Given the description of an element on the screen output the (x, y) to click on. 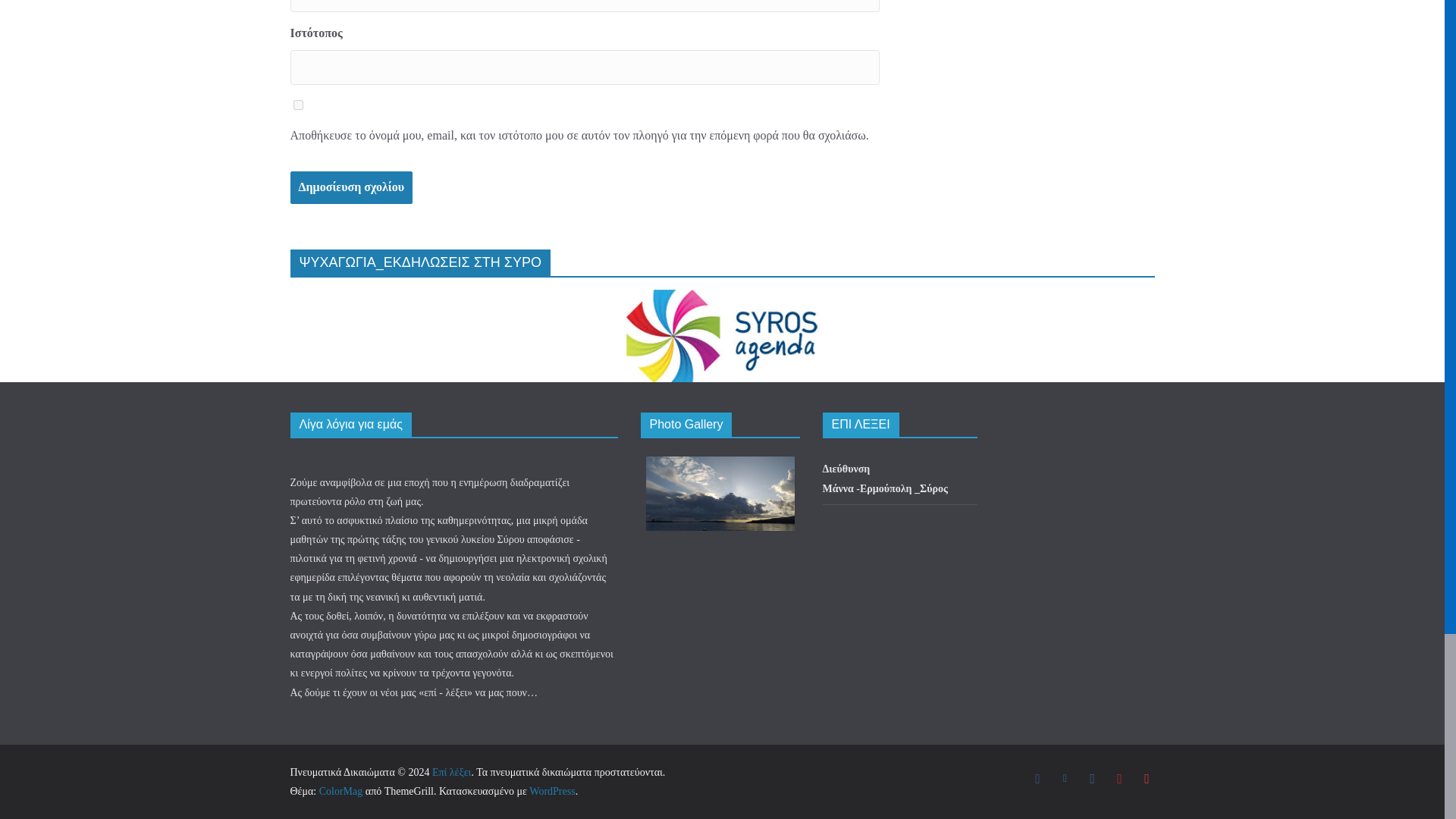
yes (297, 104)
